Given the description of an element on the screen output the (x, y) to click on. 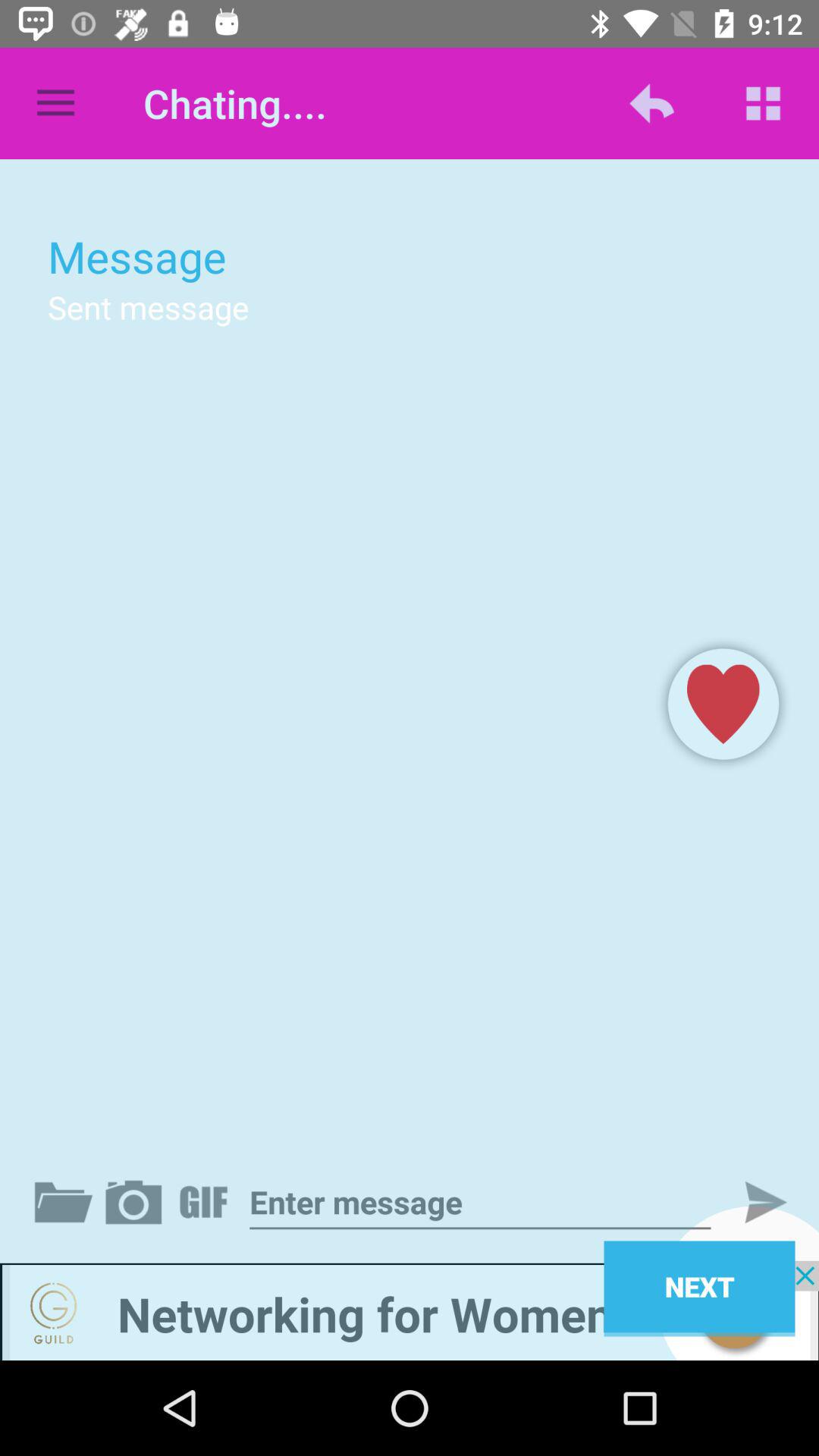
message bar (479, 1202)
